Given the description of an element on the screen output the (x, y) to click on. 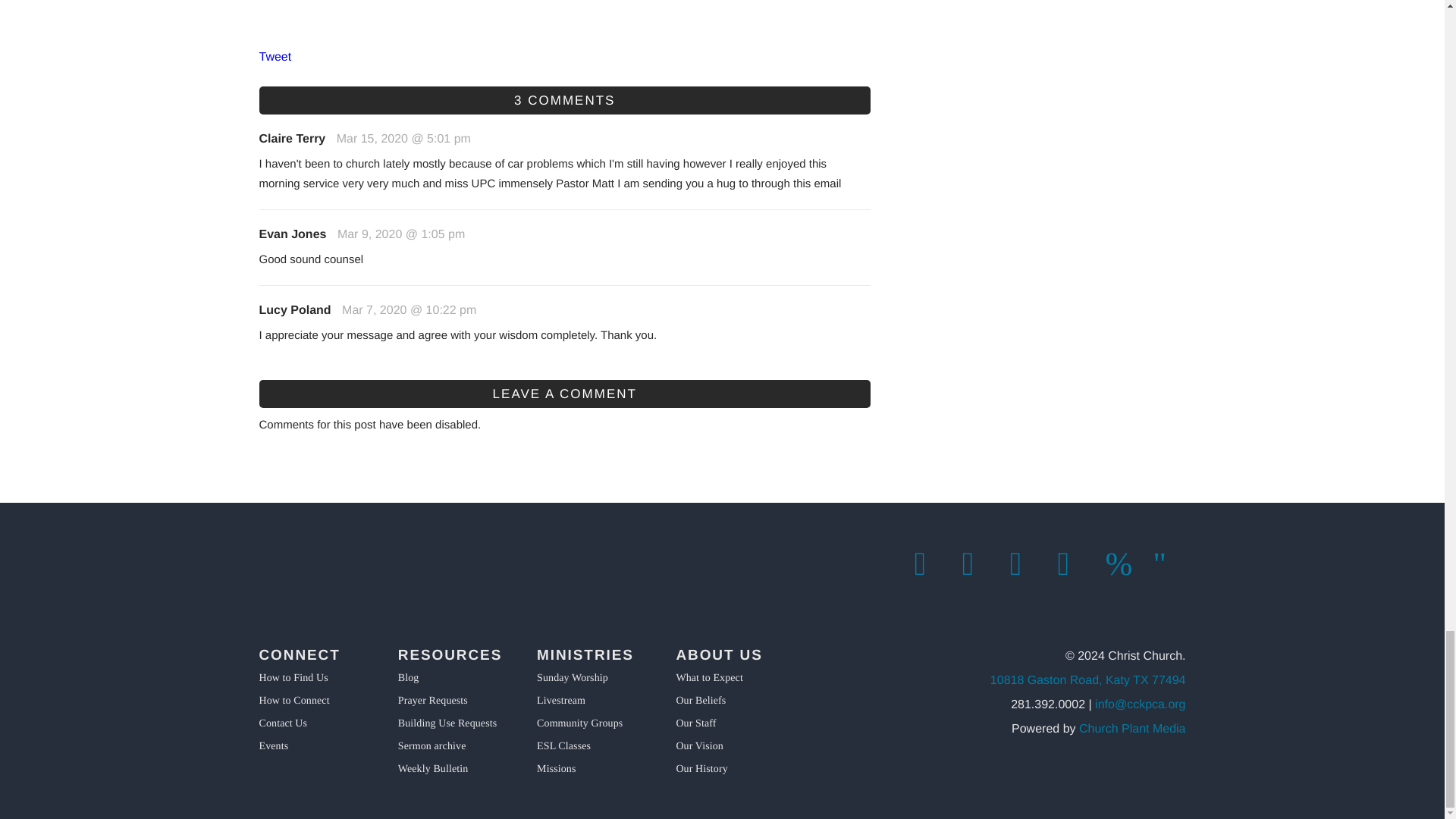
youtube (1121, 563)
instagram (1026, 563)
twitter (977, 563)
vimeo (1073, 563)
rss (1169, 563)
facebook (930, 563)
